Given the description of an element on the screen output the (x, y) to click on. 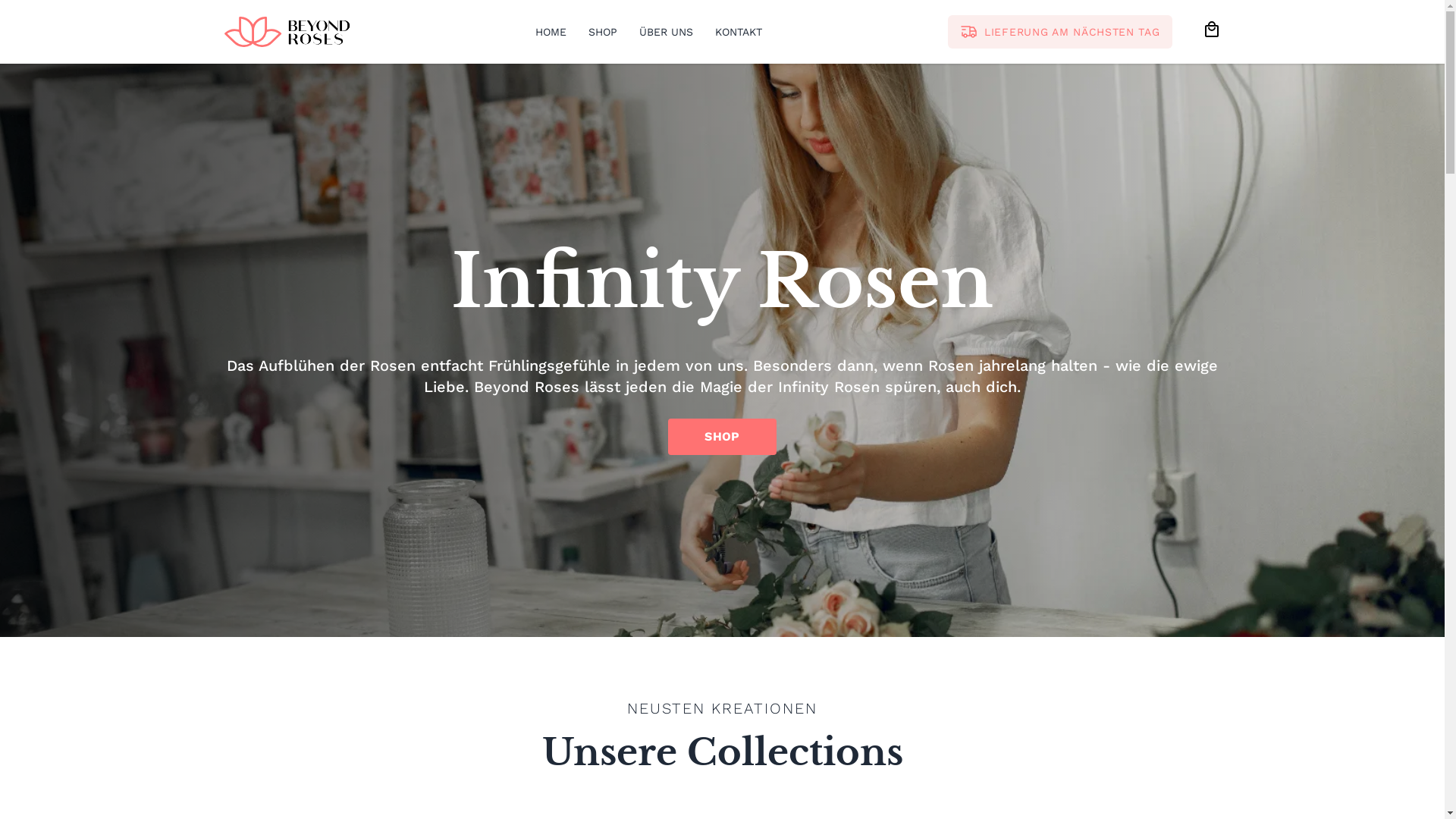
KONTAKT Element type: text (738, 31)
SHOP Element type: text (602, 31)
Shopping Bag Element type: hover (1211, 28)
SHOP Element type: text (722, 436)
HOME Element type: text (550, 31)
